Given the description of an element on the screen output the (x, y) to click on. 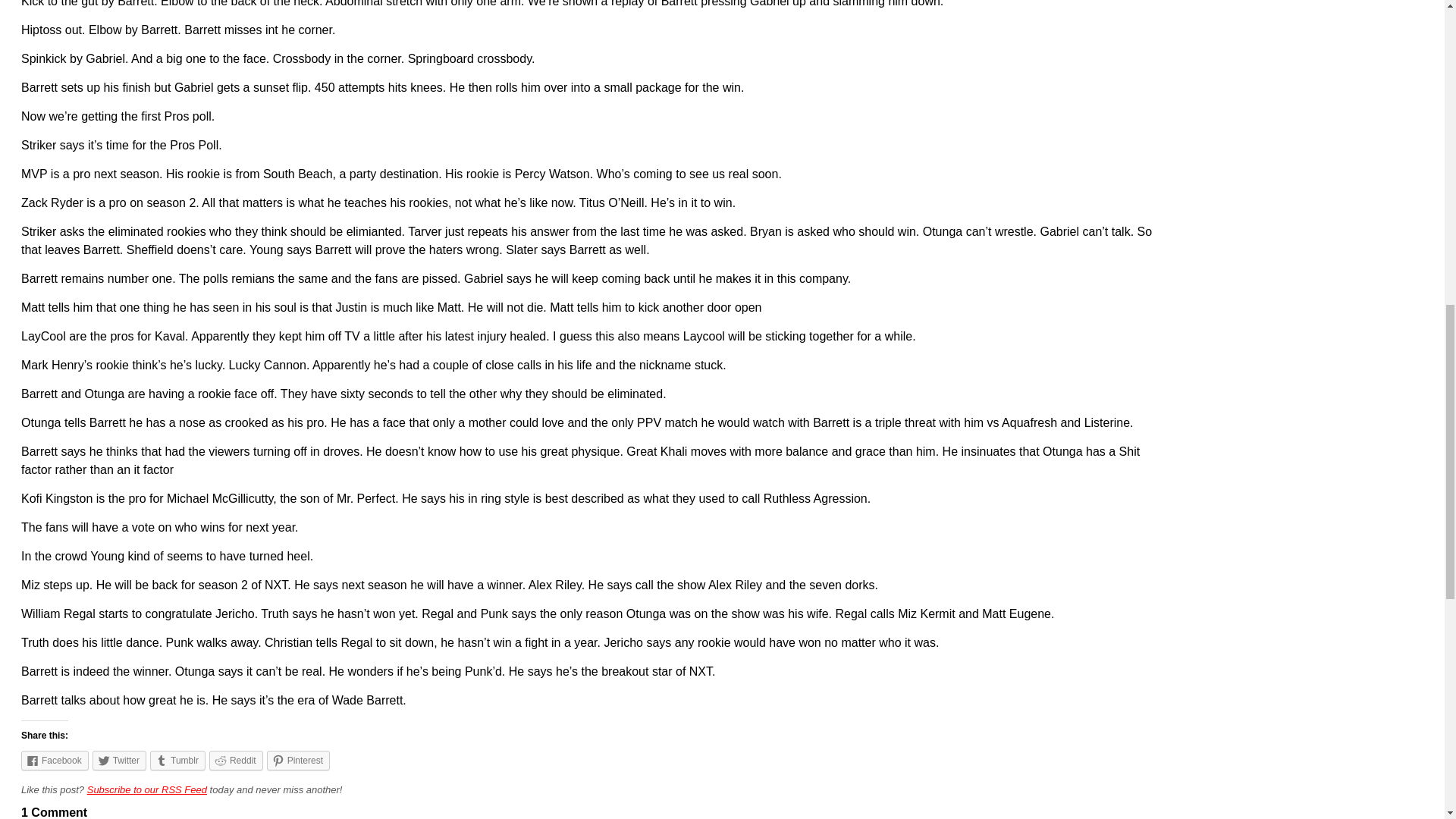
Reddit (236, 760)
Twitter (120, 760)
Pinterest (298, 760)
Click to share on Facebook (54, 760)
Click to share on Pinterest (298, 760)
Click to share on Reddit (236, 760)
Subscribe to our RSS Feed (146, 789)
Click to share on Twitter (120, 760)
Facebook (54, 760)
Click to share on Tumblr (177, 760)
Tumblr (177, 760)
